Given the description of an element on the screen output the (x, y) to click on. 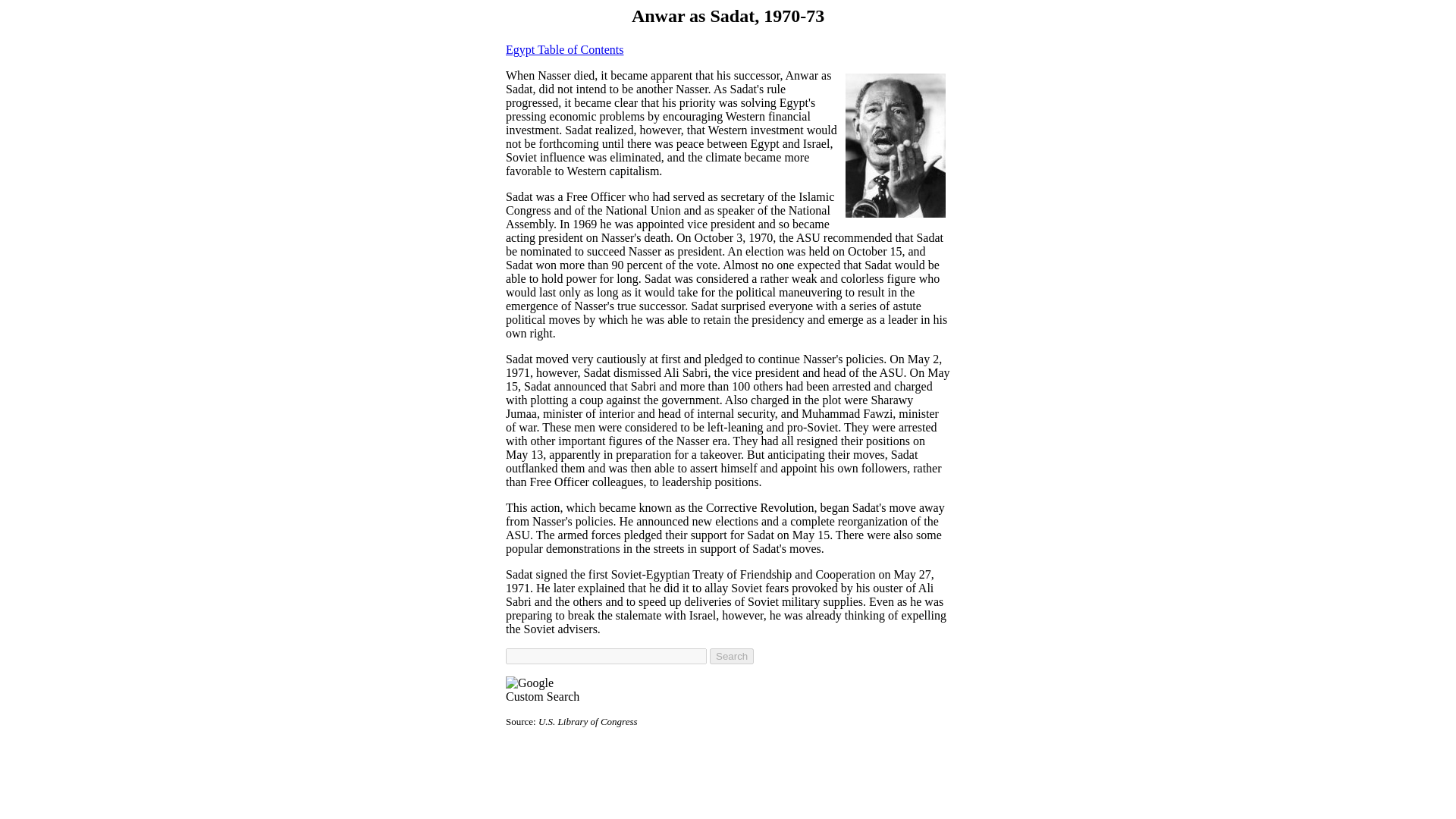
Search (732, 656)
Egypt Table of Contents (564, 49)
Search (732, 656)
